Given the description of an element on the screen output the (x, y) to click on. 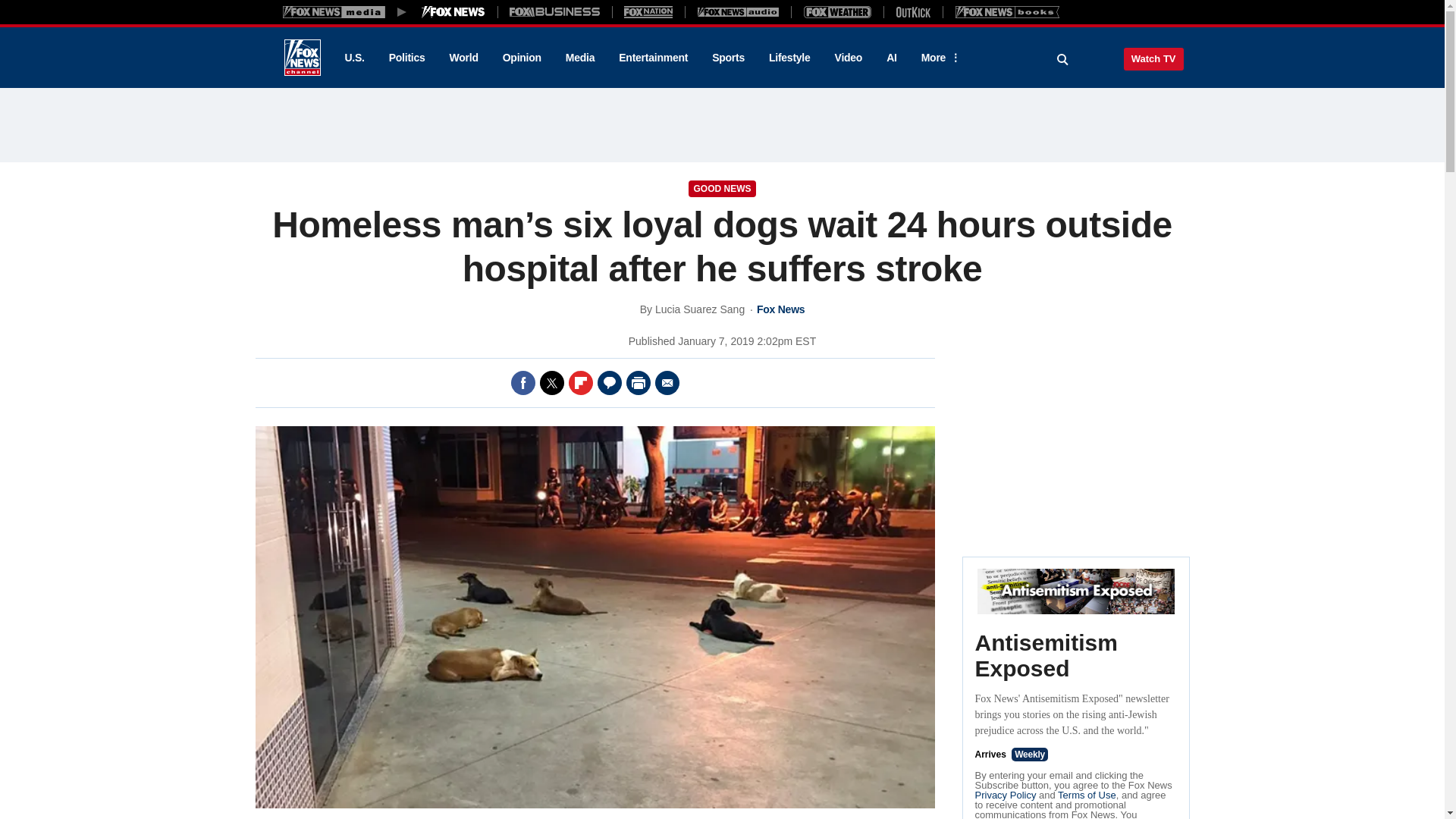
Politics (407, 57)
Video (848, 57)
World (464, 57)
U.S. (353, 57)
AI (891, 57)
Lifestyle (789, 57)
Sports (728, 57)
Fox News Media (453, 11)
Books (1007, 11)
Entertainment (653, 57)
